Given the description of an element on the screen output the (x, y) to click on. 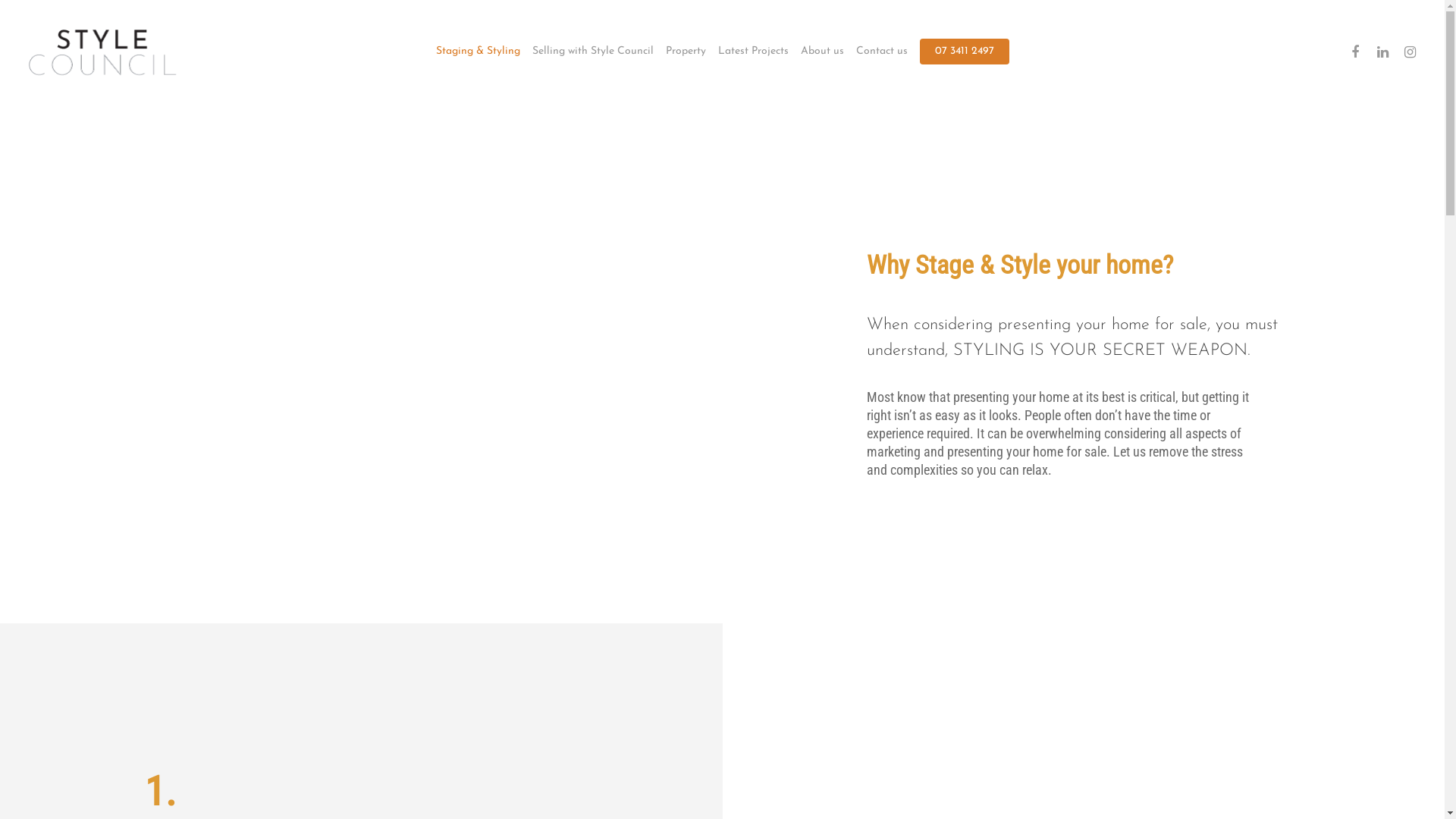
About us Element type: text (822, 51)
Selling with Style Council Element type: text (592, 51)
Contact us Element type: text (881, 51)
Staging & Styling Element type: text (477, 51)
Property Element type: text (685, 51)
Latest Projects Element type: text (752, 51)
07 3411 2497 Element type: text (963, 51)
